Given the description of an element on the screen output the (x, y) to click on. 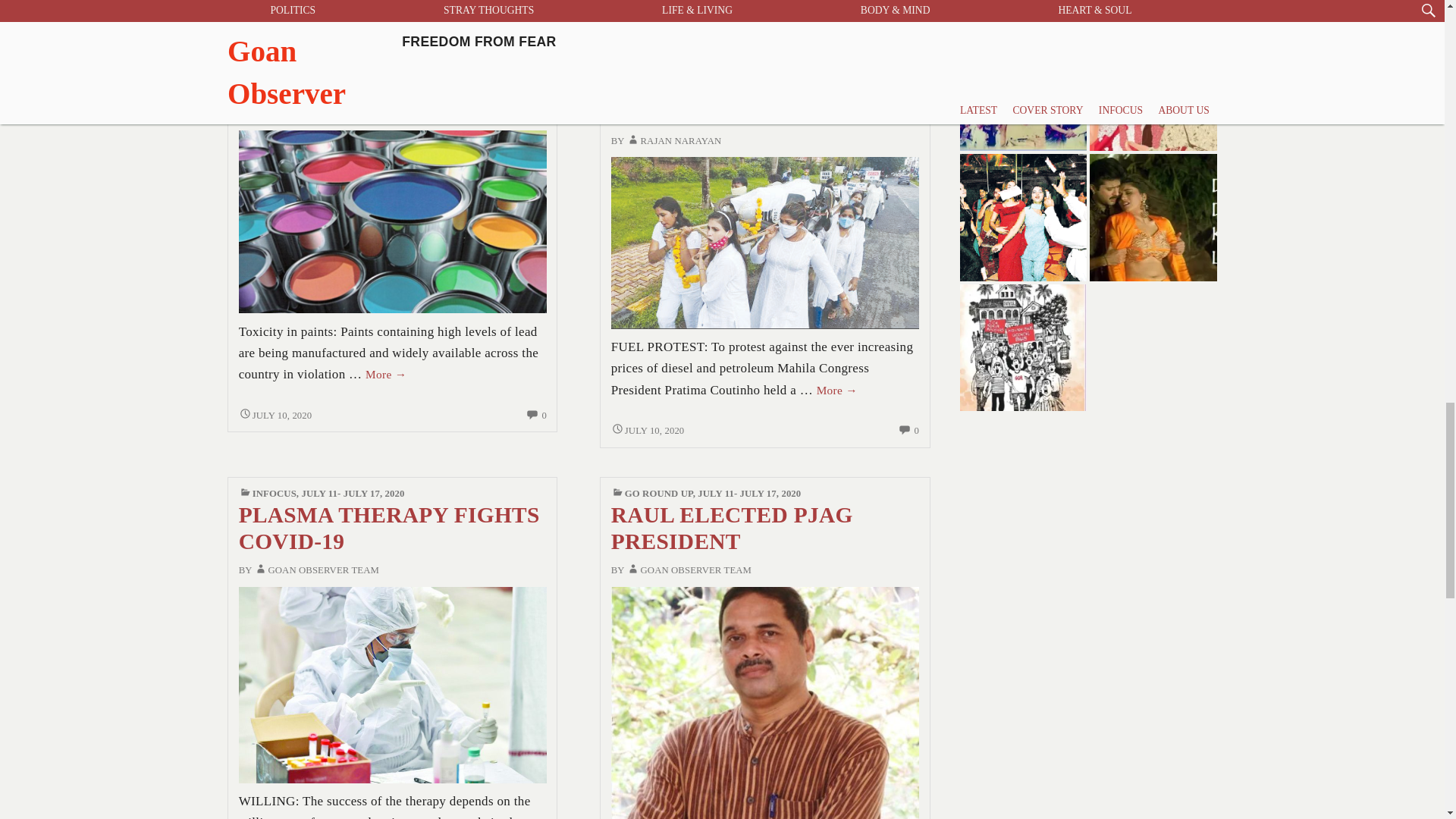
WHEN DID YOU LAST THINK ABOUT TOXIC PAINTS? (392, 219)
PLASMA THERAPY FIGHTS COVID-19 (392, 683)
